Given the description of an element on the screen output the (x, y) to click on. 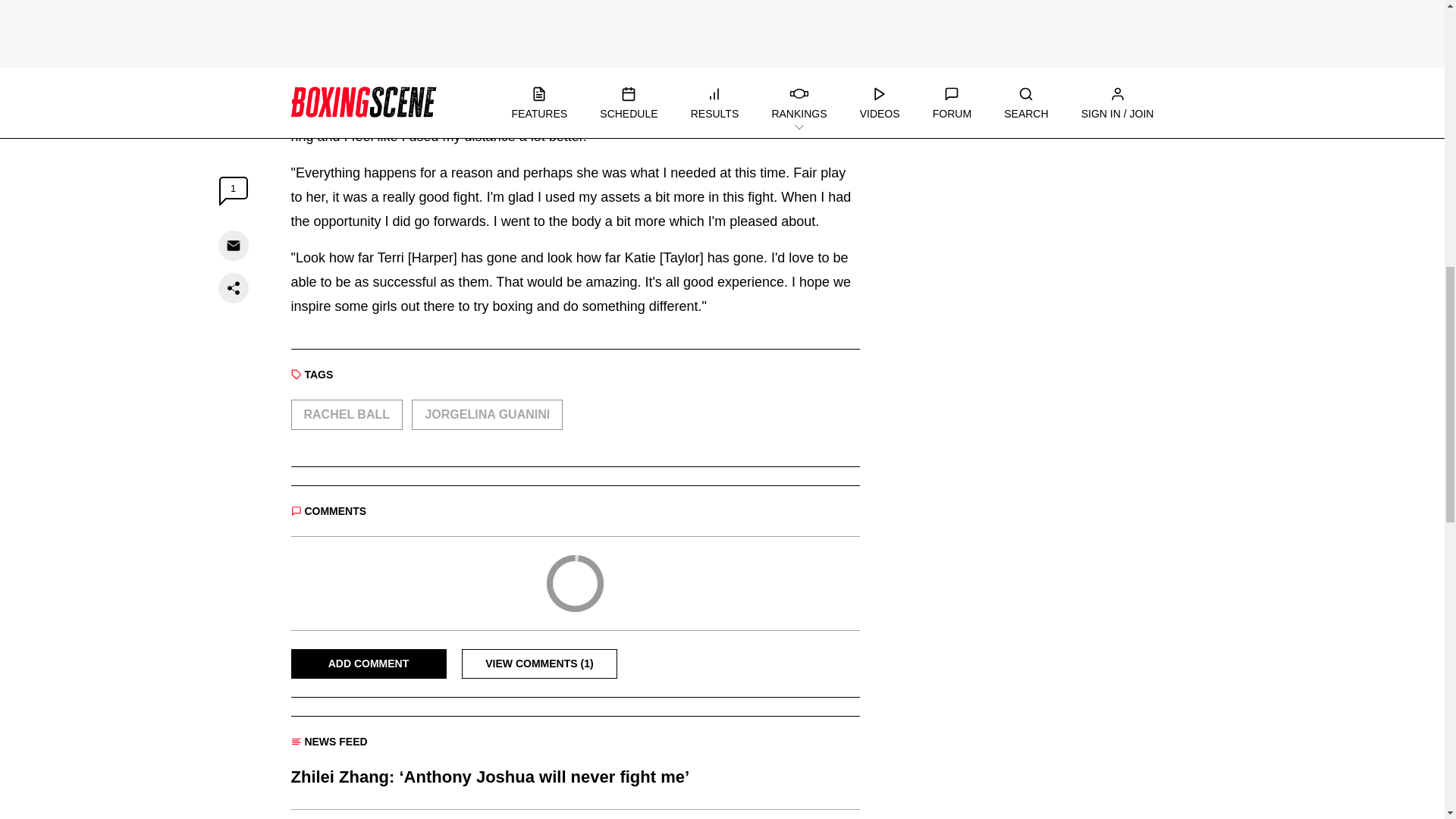
NEWS FEED (329, 741)
JORGELINA GUANINI (487, 414)
ADD COMMENT (368, 663)
RACHEL BALL (347, 414)
